Given the description of an element on the screen output the (x, y) to click on. 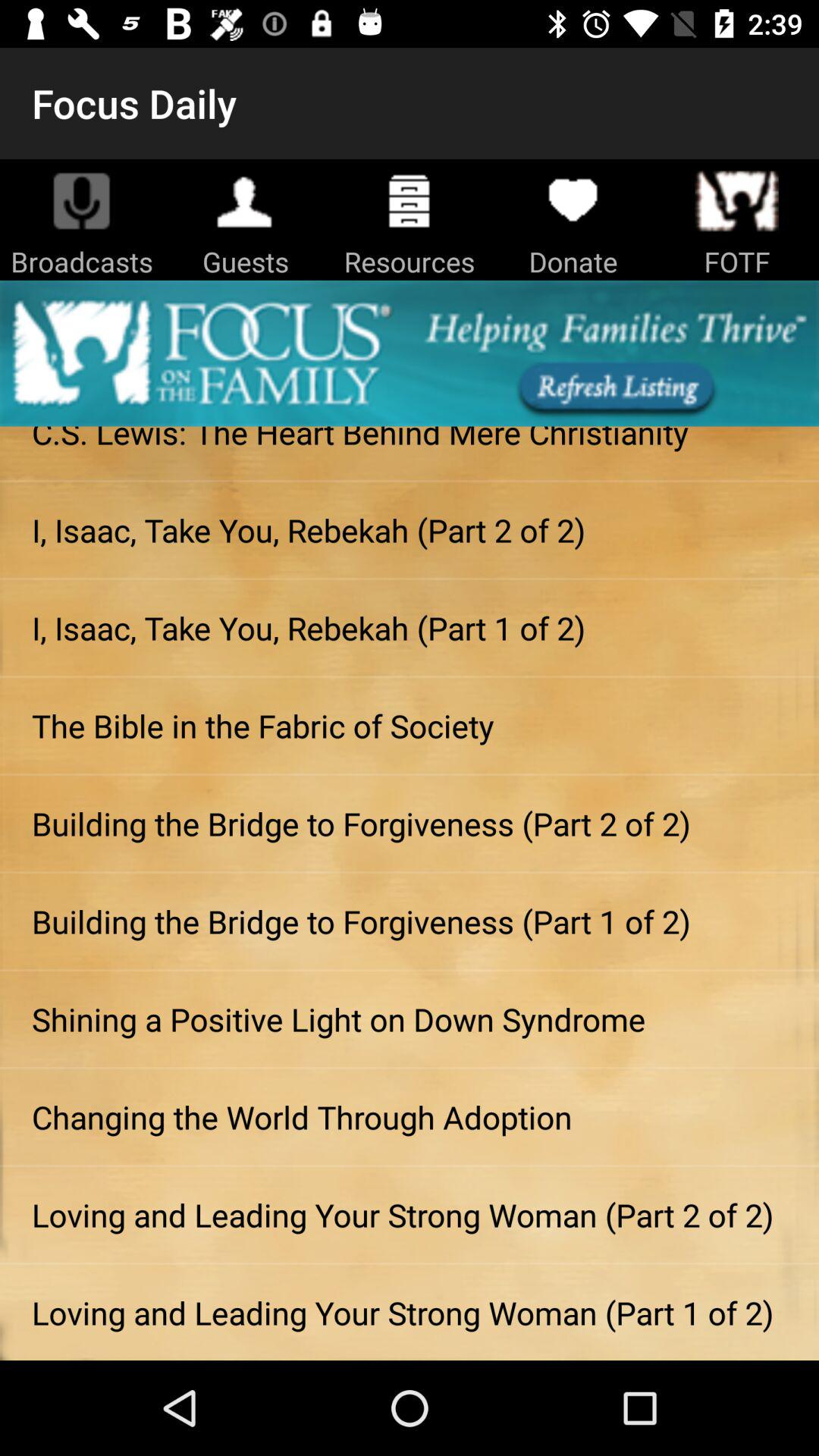
click on the icon above broadcasts (81, 200)
